Given the description of an element on the screen output the (x, y) to click on. 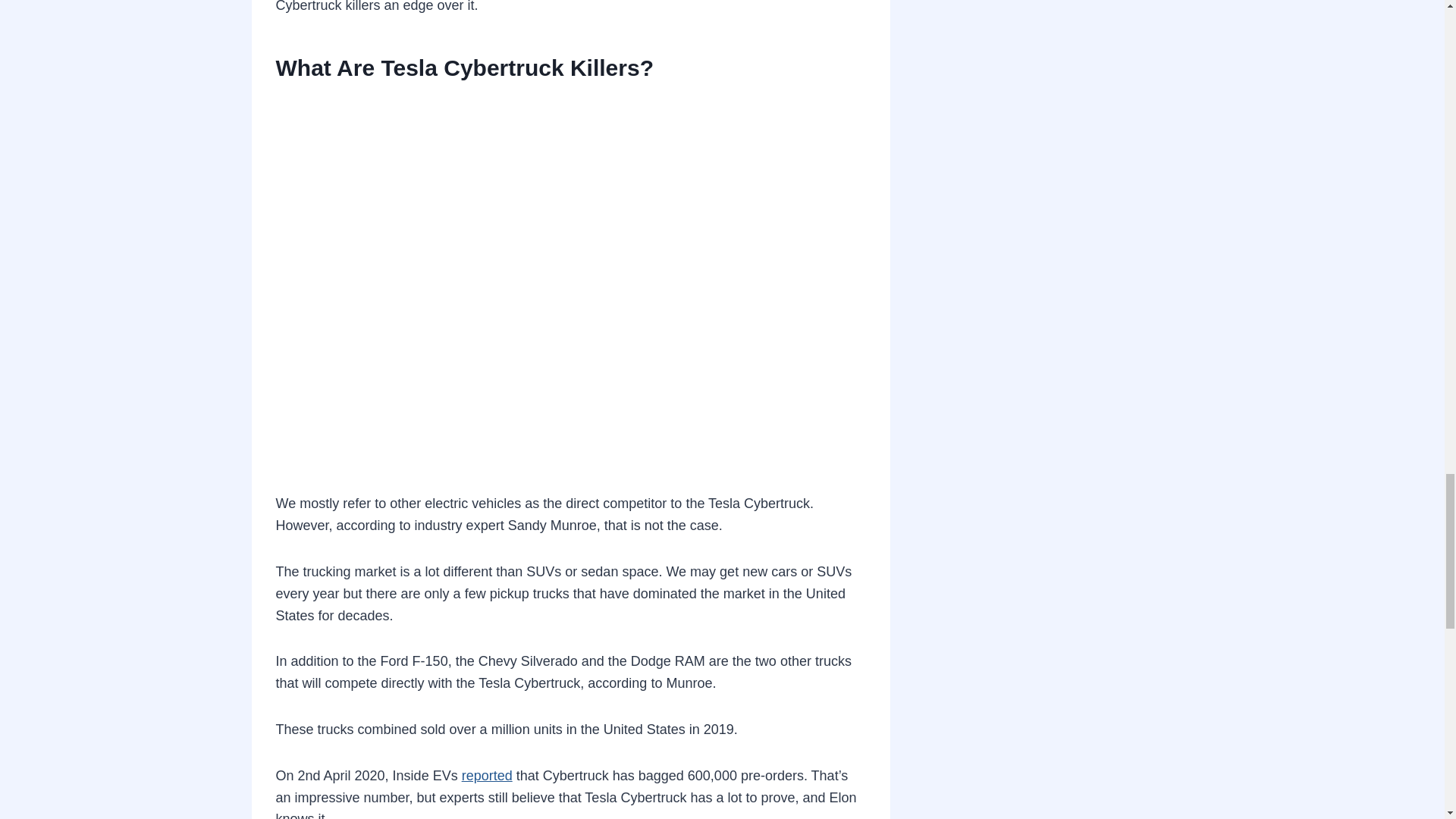
reported (486, 775)
